Given the description of an element on the screen output the (x, y) to click on. 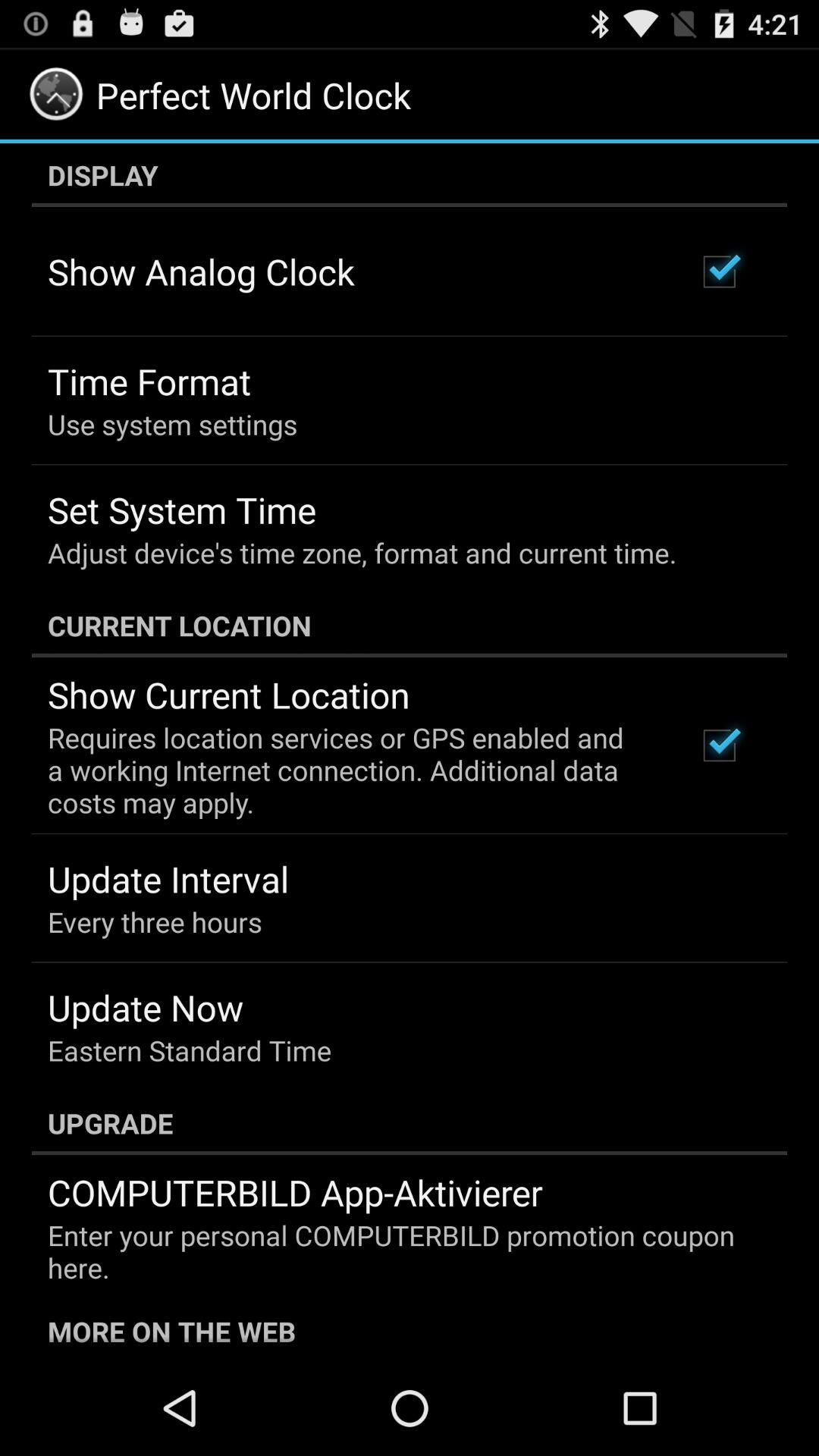
swipe to use system settings (172, 424)
